Given the description of an element on the screen output the (x, y) to click on. 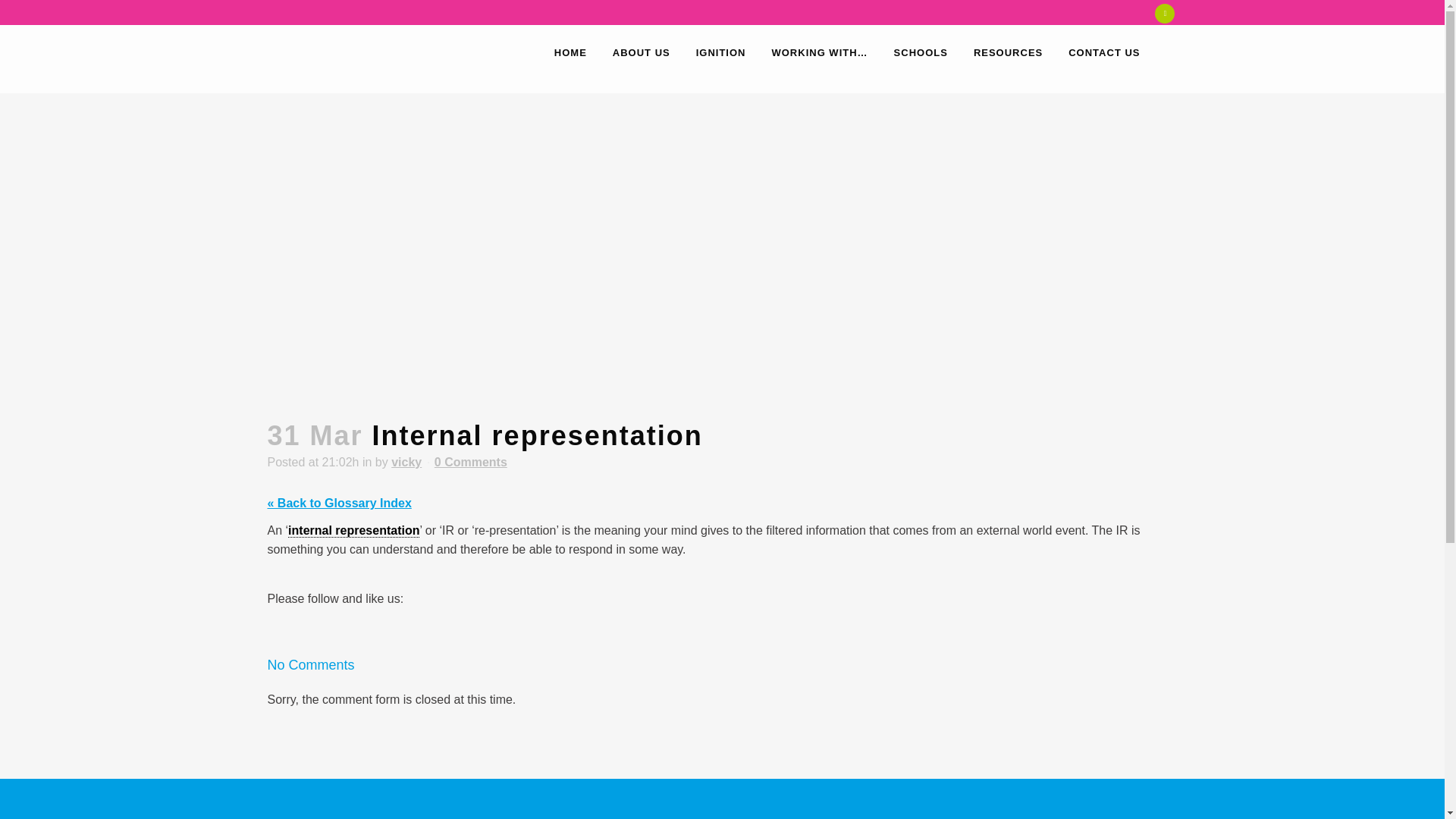
ABOUT US (640, 52)
SCHOOLS (920, 52)
IGNITION (720, 52)
RESOURCES (1007, 52)
CONTACT US (1104, 52)
